Given the description of an element on the screen output the (x, y) to click on. 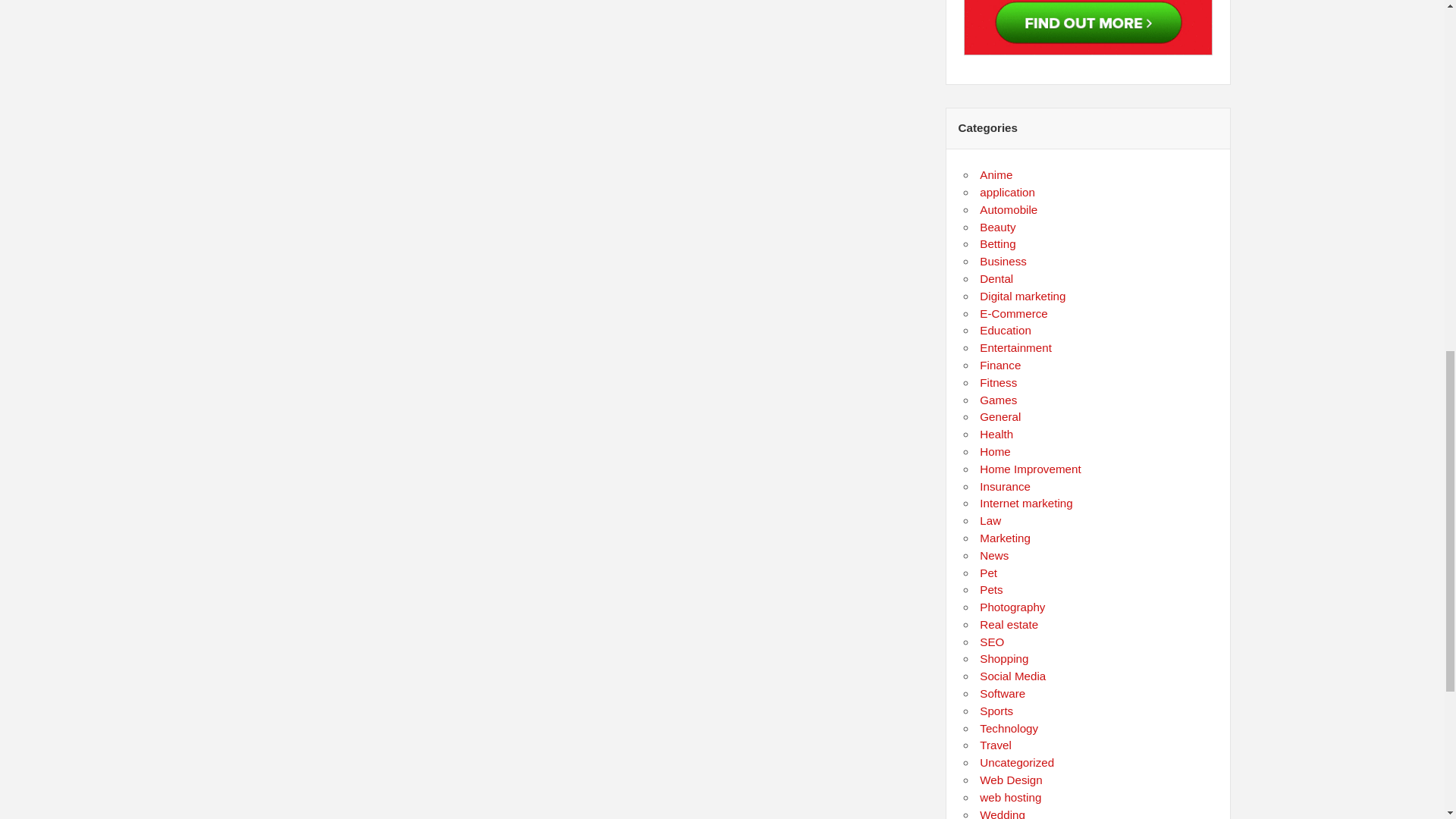
Health (996, 433)
Digital marketing (1022, 295)
Business (1002, 260)
Education (1004, 329)
Dental (996, 278)
Anime (995, 174)
Marketing (1004, 537)
Entertainment (1015, 347)
application (1007, 192)
Betting (996, 243)
Finance (999, 364)
Automobile (1007, 209)
E-Commerce (1012, 313)
Law (990, 520)
Fitness (997, 382)
